Given the description of an element on the screen output the (x, y) to click on. 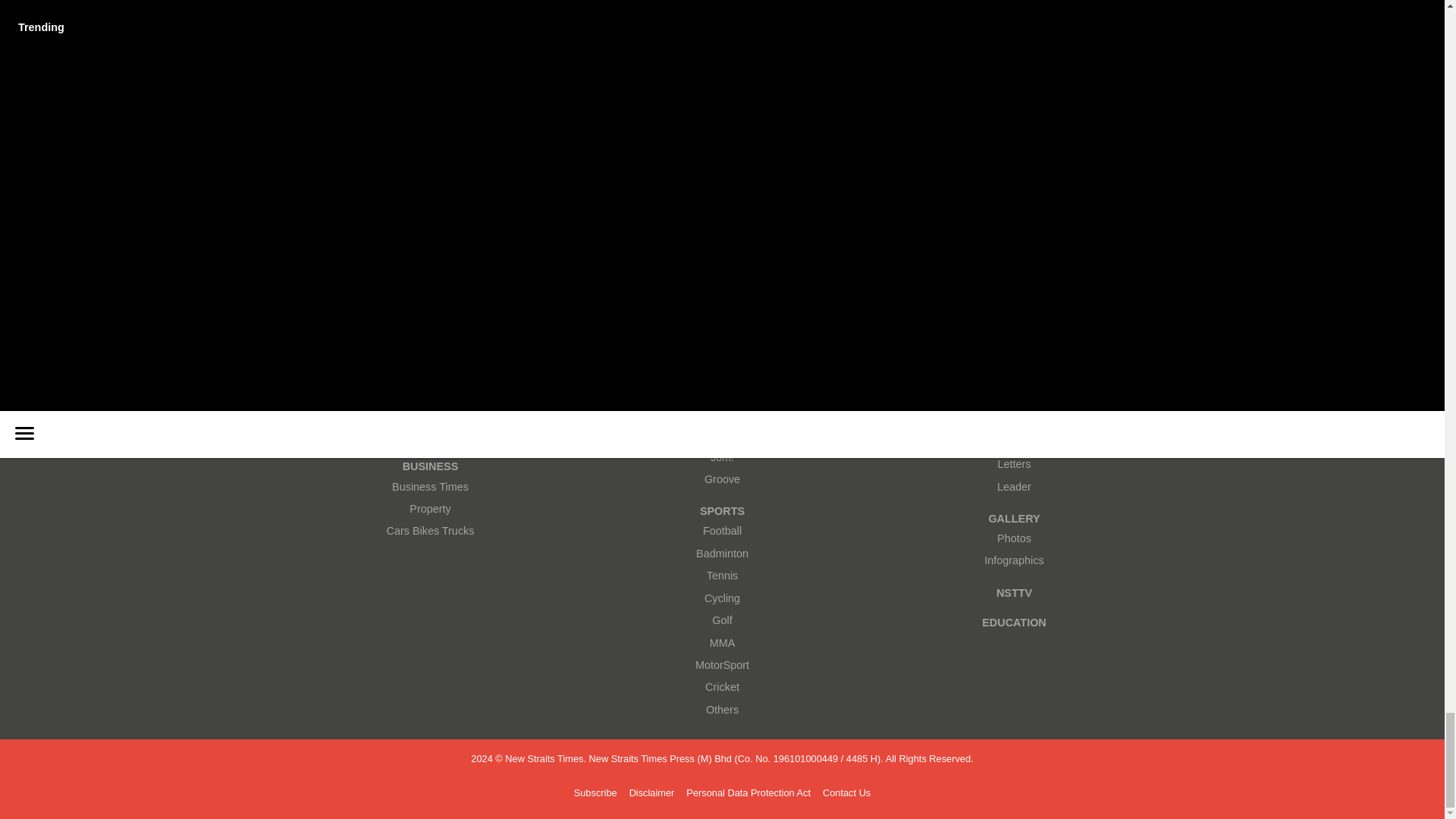
NEWS (429, 348)
Business Times (429, 486)
Property (429, 508)
BUSINESS (429, 466)
Politics (429, 434)
Cars Bikes Trucks (429, 531)
Nation (429, 413)
